Given the description of an element on the screen output the (x, y) to click on. 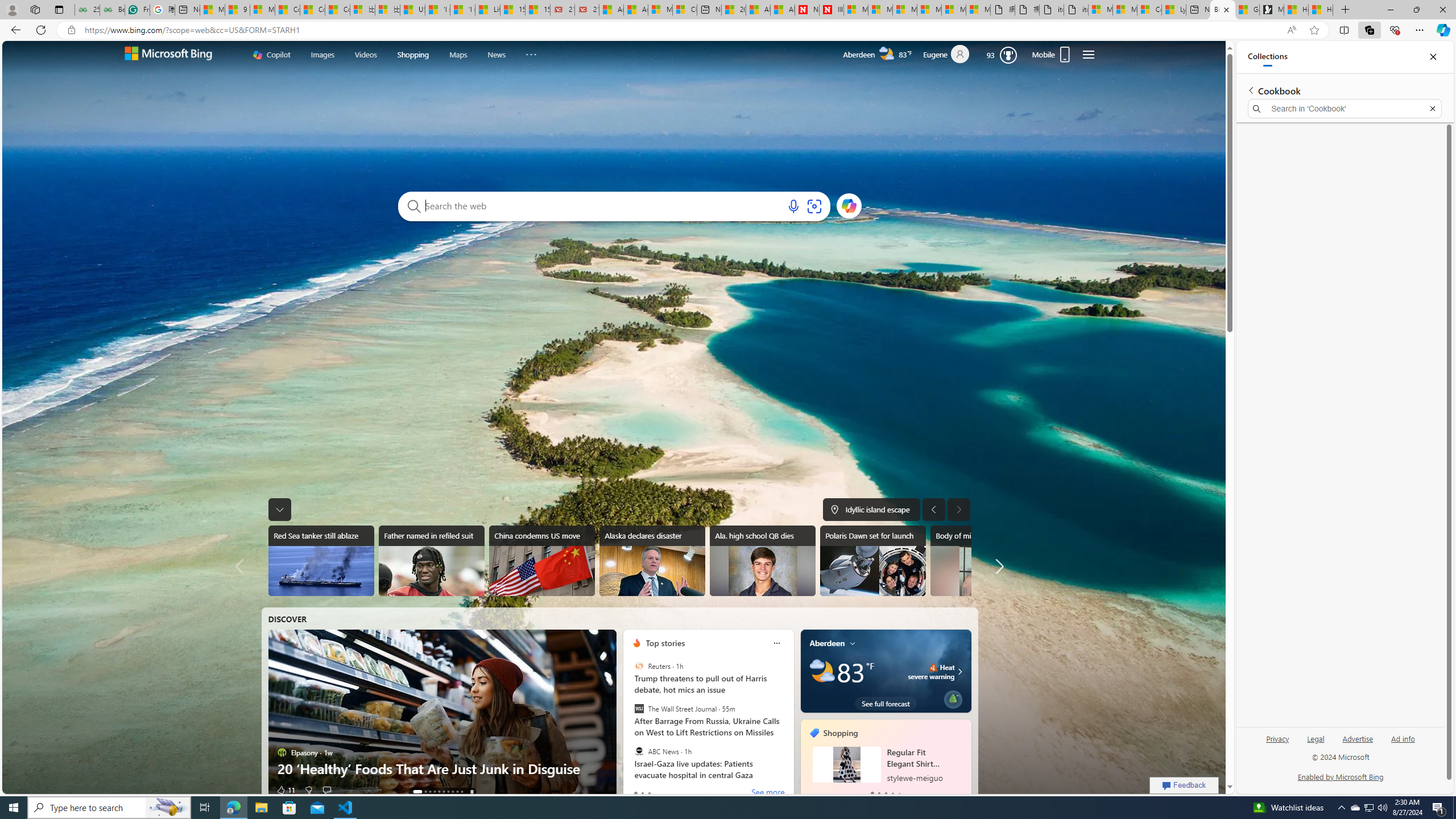
Welcome to Bing Search (167, 54)
Aberdeen (826, 643)
Search using voice (793, 205)
Images (322, 54)
See full forecast (885, 703)
Maps (458, 53)
Eugene (950, 54)
AutomationID: tab-6 (447, 791)
USA TODAY - MSN (411, 9)
Consumer Health Data Privacy Policy (1149, 9)
Class: icon-img (852, 643)
